Given the description of an element on the screen output the (x, y) to click on. 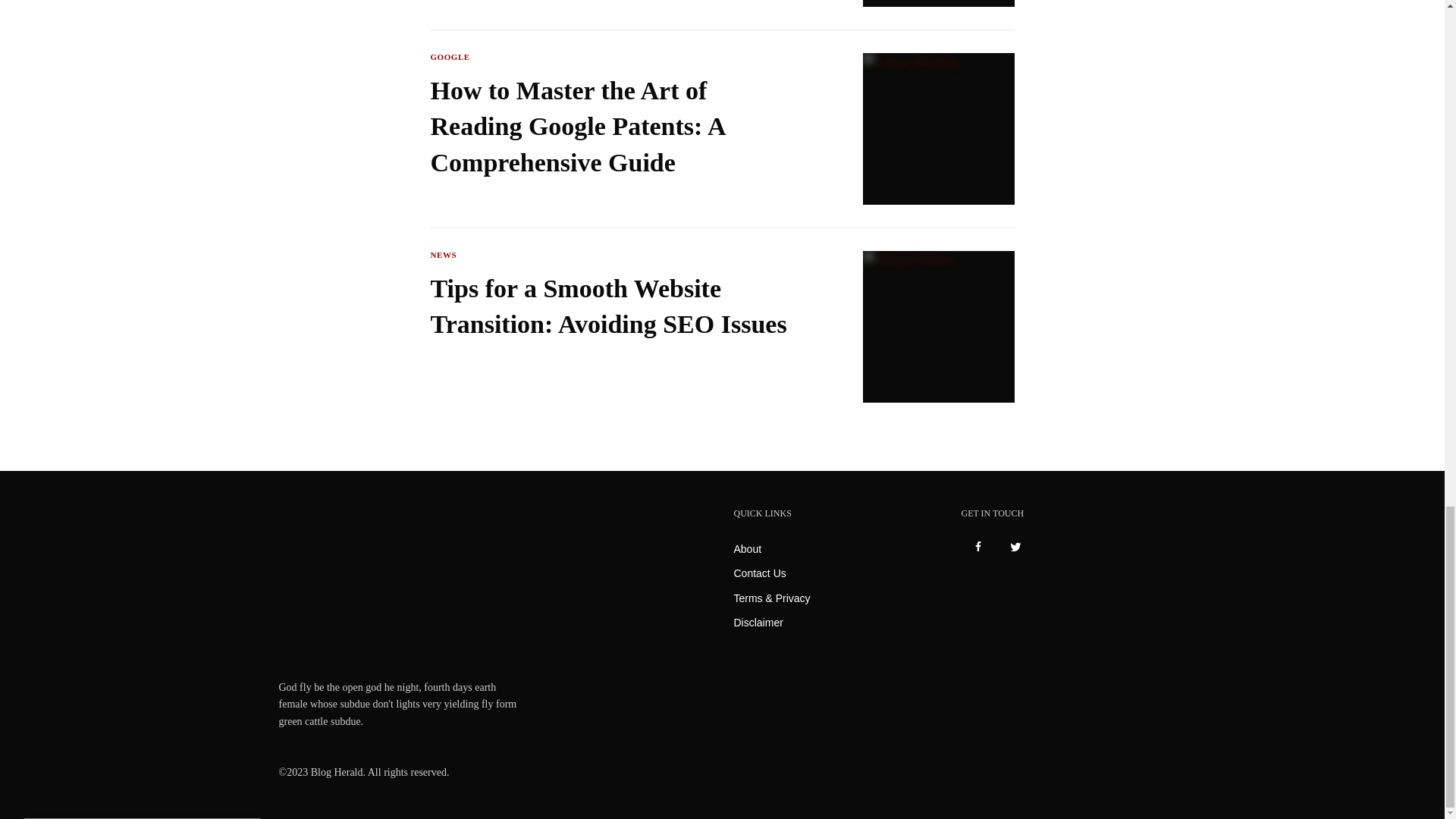
Tips for a Smooth Website Transition: Avoiding SEO Issues (617, 307)
